Given the description of an element on the screen output the (x, y) to click on. 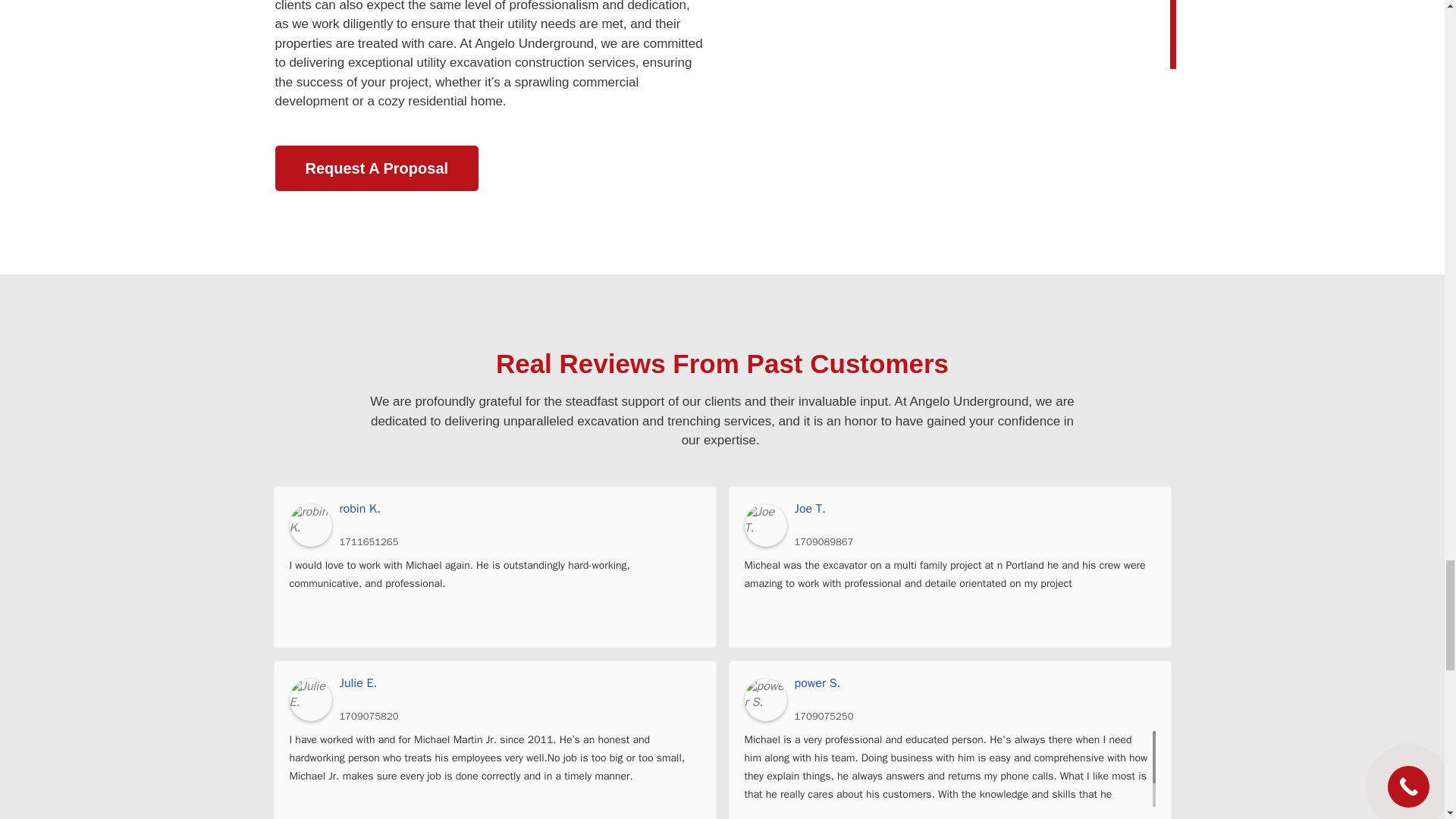
Julie E. (310, 699)
robin K. (519, 508)
Julie E. (519, 683)
robin K. (310, 525)
Joe T. (765, 525)
Joe T. (975, 508)
power S. (975, 683)
power S. (765, 699)
